Given the description of an element on the screen output the (x, y) to click on. 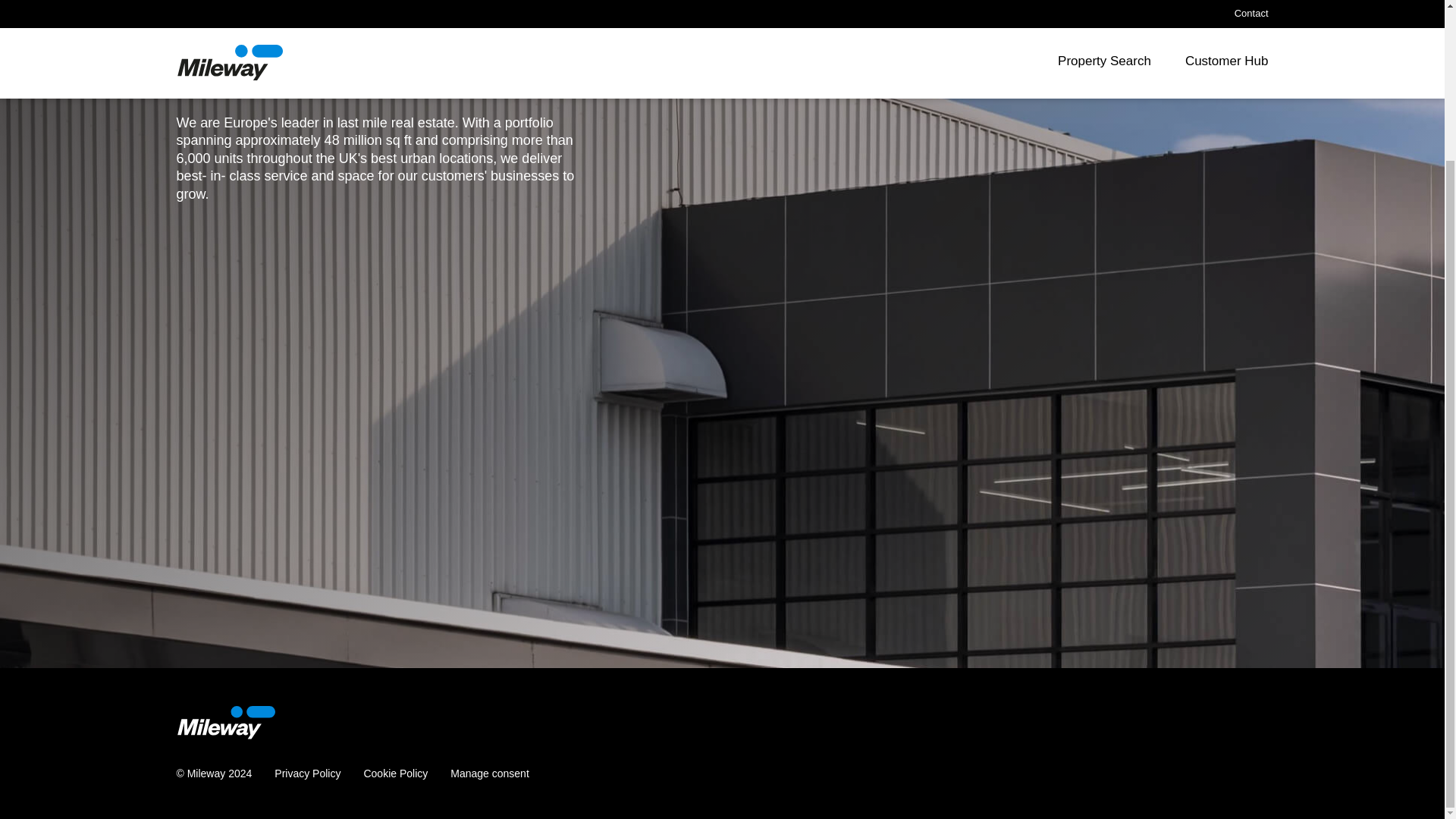
Privacy Policy (307, 773)
Cookie Policy (395, 773)
Manage consent (489, 773)
